Given the description of an element on the screen output the (x, y) to click on. 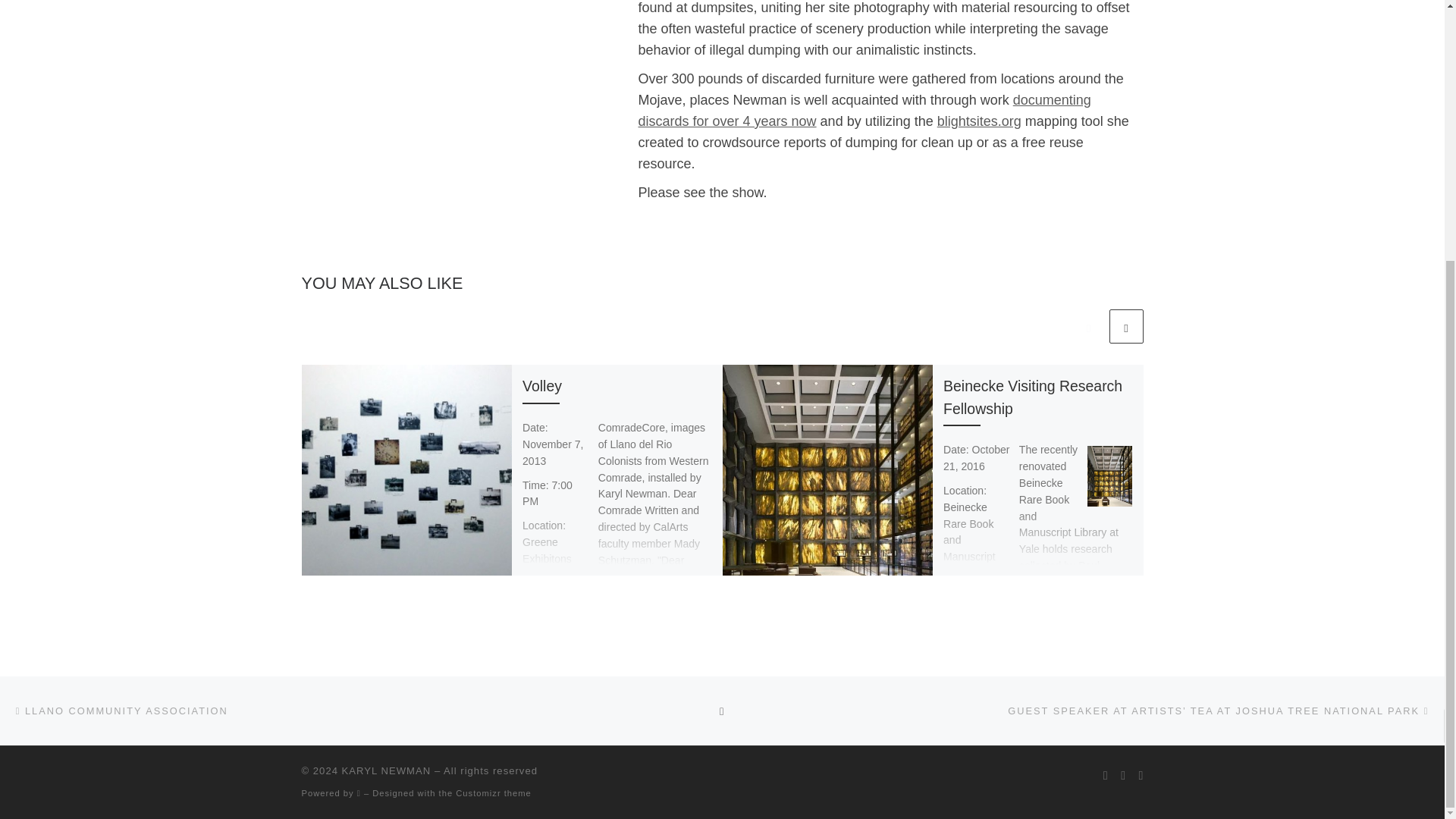
KARYL NEWMAN (386, 770)
Volley (542, 385)
documenting discards for over 4 years now (864, 110)
Beinecke Visiting Research Fellowship (1032, 396)
Previous related articles (1088, 326)
Next related articles (1125, 326)
blightsites.org (979, 120)
